Given the description of an element on the screen output the (x, y) to click on. 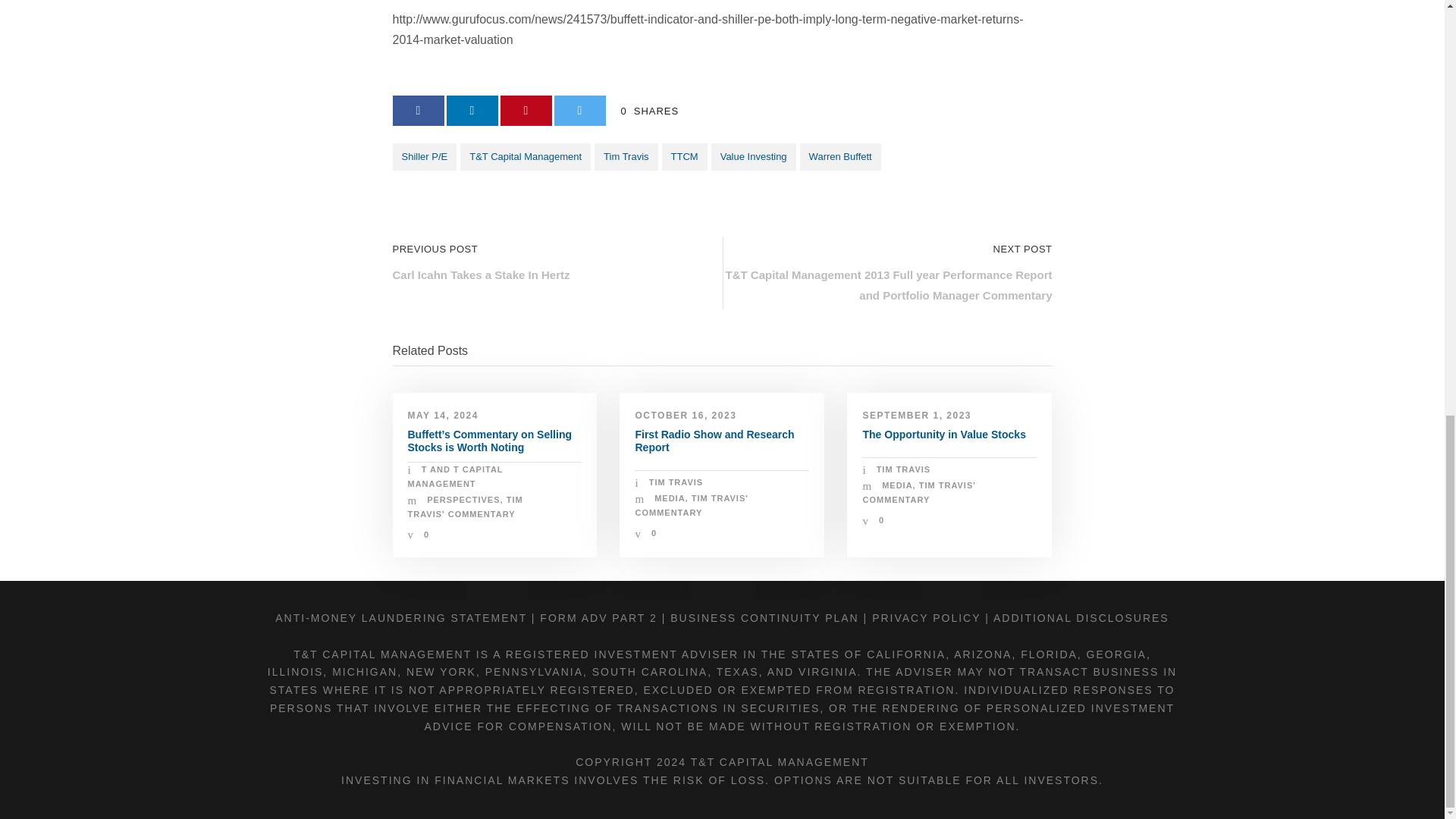
Tim Travis (626, 156)
Posts by Tim Travis (903, 469)
Posts by T and T Capital Management (455, 476)
Posts by Tim Travis (676, 481)
Carl Icahn Takes a Stake In Hertz (481, 274)
TTCM (684, 156)
Warren Buffett (839, 156)
Value Investing (753, 156)
